Given the description of an element on the screen output the (x, y) to click on. 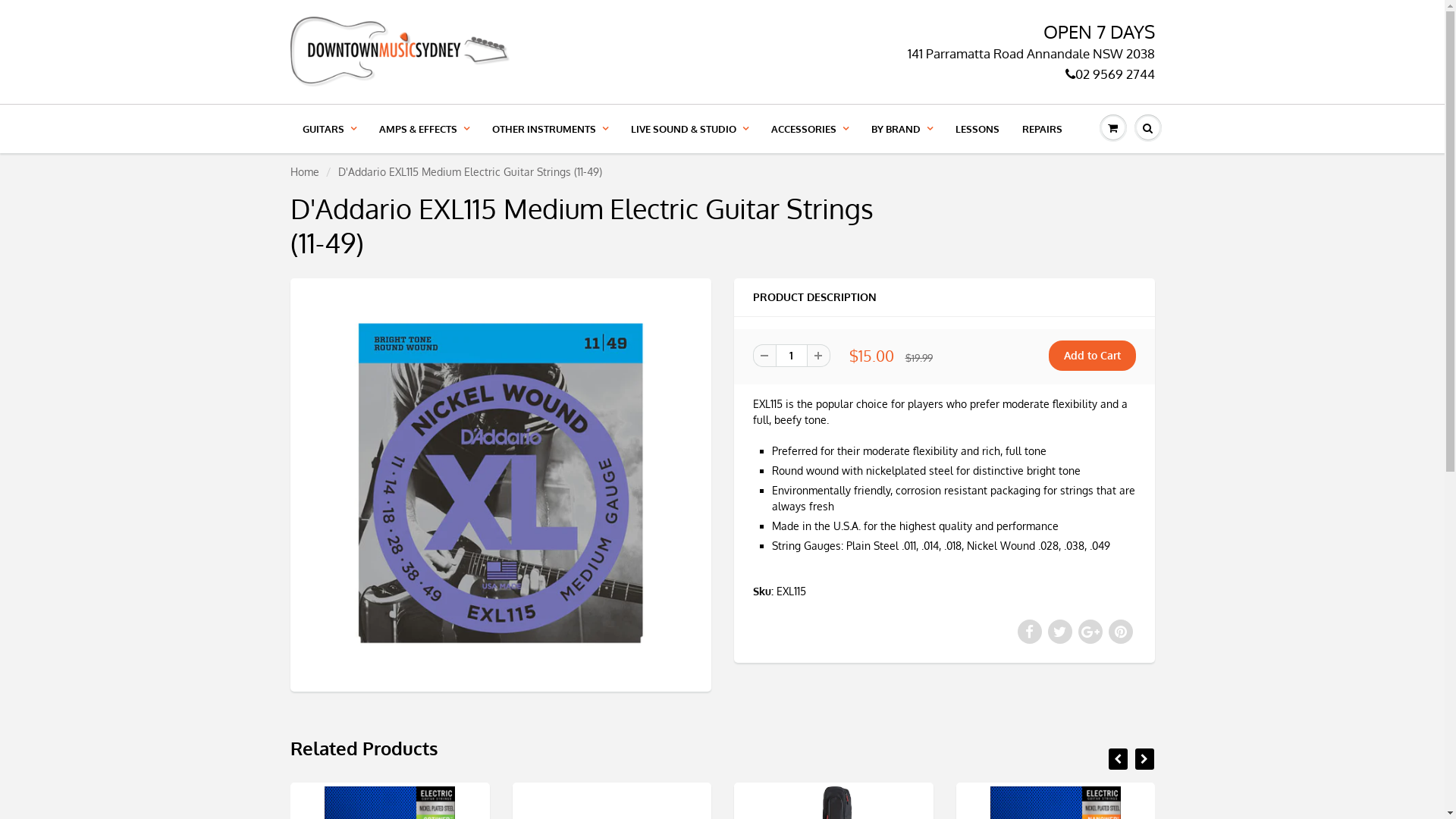
GUITARS Element type: text (329, 128)
AMPS & EFFECTS Element type: text (423, 128)
REPAIRS Element type: text (1041, 128)
BY BRAND Element type: text (901, 128)
LESSONS Element type: text (976, 128)
02 9569 2744 Element type: text (1109, 74)
OTHER INSTRUMENTS Element type: text (549, 128)
LIVE SOUND & STUDIO Element type: text (688, 128)
Home Element type: text (303, 171)
ACCESSORIES Element type: text (809, 128)
Add to Cart Element type: text (1091, 355)
